Given the description of an element on the screen output the (x, y) to click on. 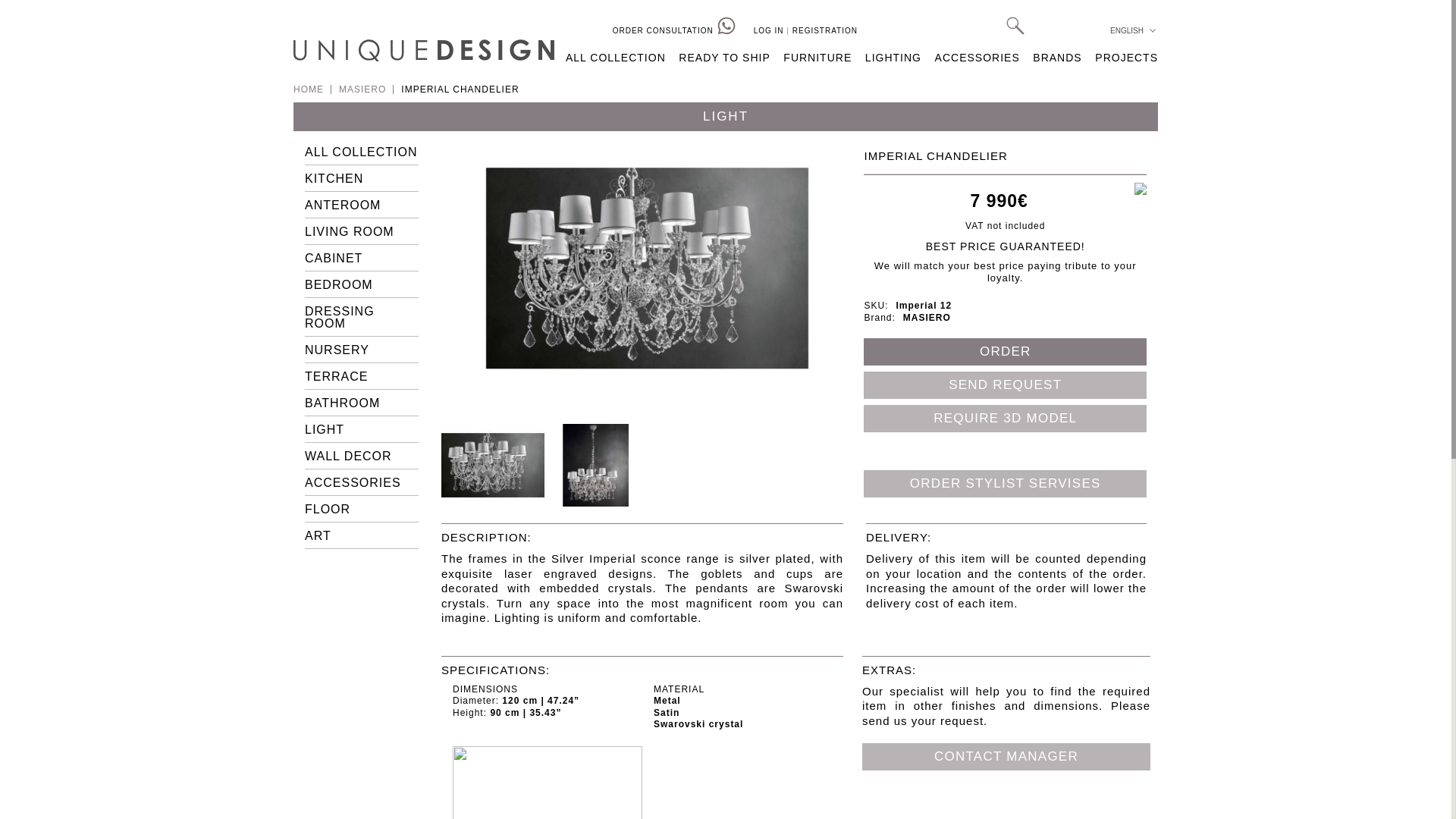
ALL COLLECTION (615, 57)
REGISTRATION (824, 31)
Contact manager (1005, 756)
LOG IN (769, 31)
Order stylist servises (1005, 483)
Order (1005, 351)
ORDER CONSULTATION (673, 25)
ACCESSORIES (977, 57)
FURNITURE (817, 57)
LIGHTING (892, 57)
